Given the description of an element on the screen output the (x, y) to click on. 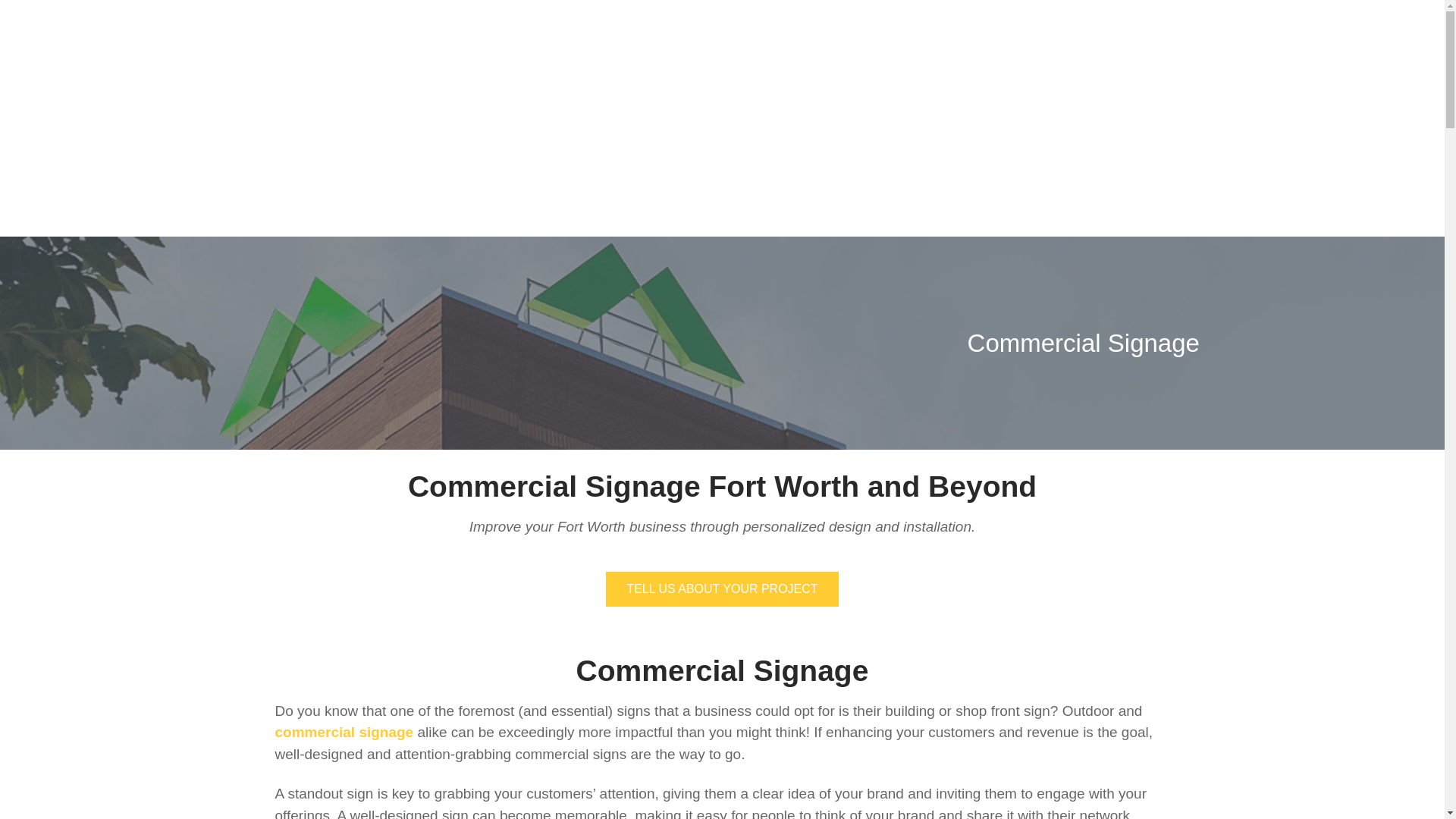
TELL US ABOUT YOUR PROJECT (721, 588)
commercial signage (344, 731)
